Given the description of an element on the screen output the (x, y) to click on. 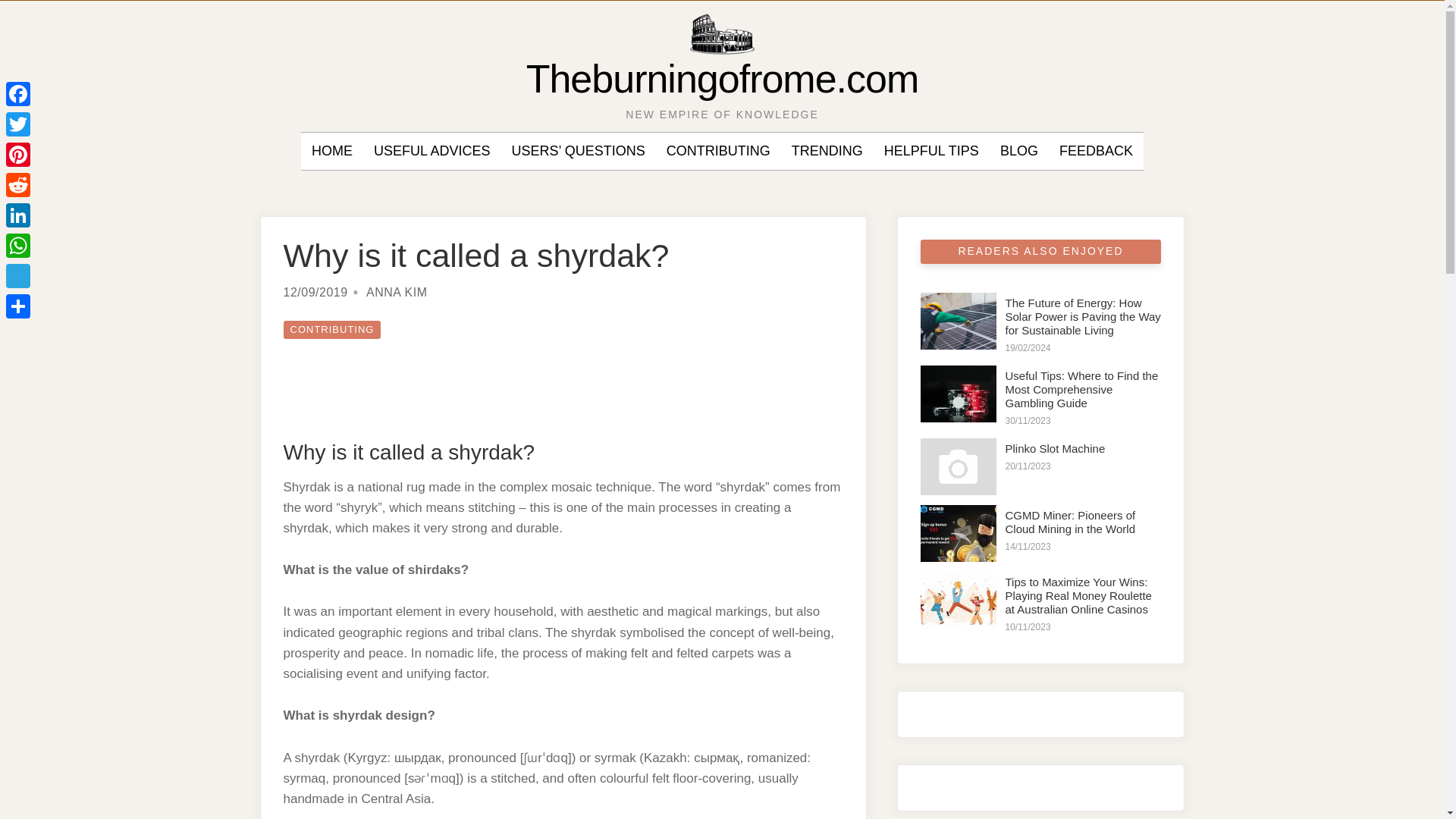
ANNA KIM (396, 291)
CGMD Miner: Pioneers of Cloud Mining in the World (1070, 521)
CONTRIBUTING (718, 151)
CGMD Miner: Pioneers of Cloud Mining in the World (1070, 521)
HOME (331, 151)
Theburningofrome.com (721, 78)
Plinko Slot Machine (1055, 448)
FEEDBACK (1095, 151)
USEFUL ADVICES (431, 151)
